Given the description of an element on the screen output the (x, y) to click on. 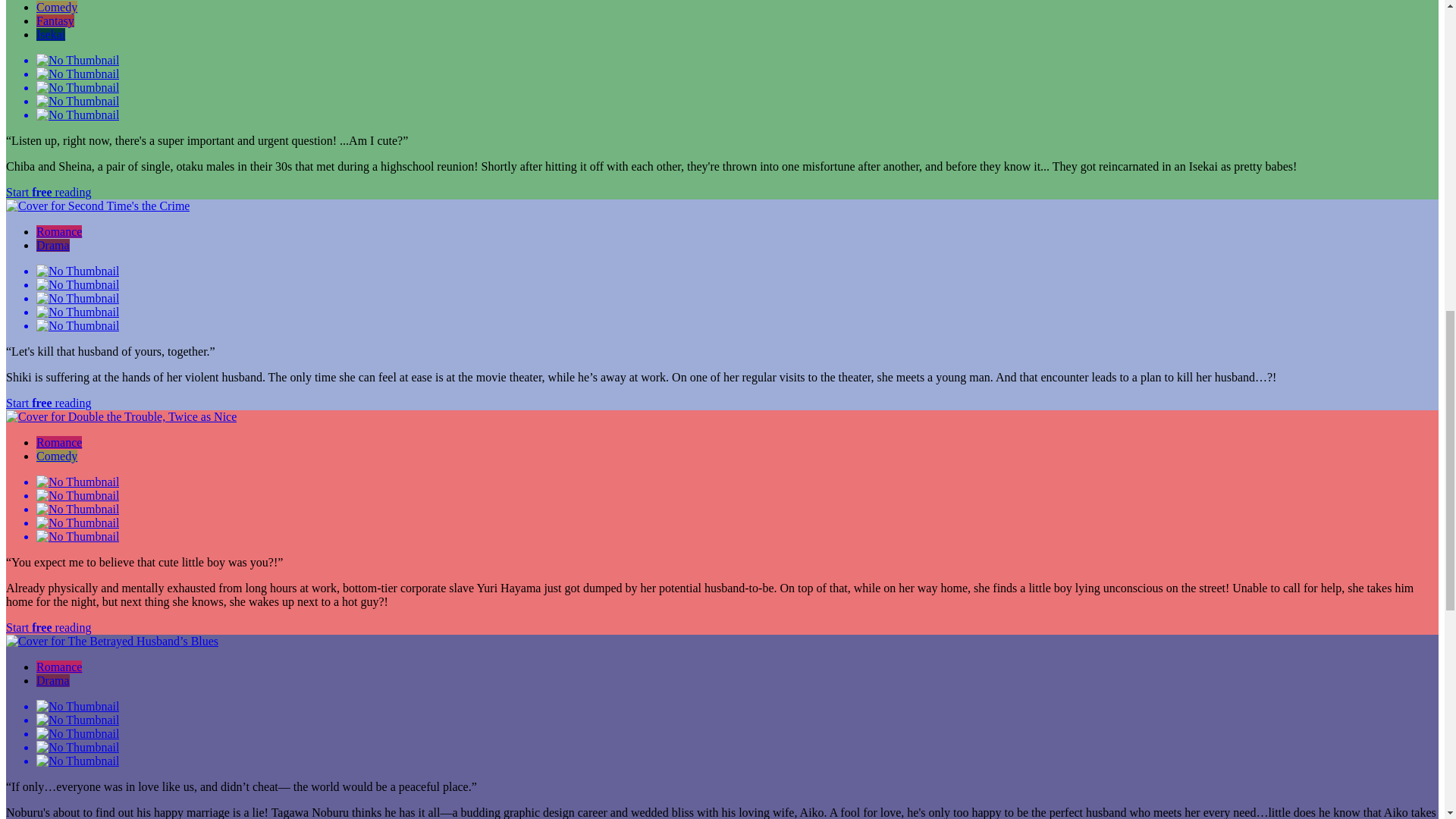
Isekai (50, 33)
Start free reading (48, 192)
Exploring new worlds (55, 20)
Drama (52, 245)
Romance (58, 441)
To laugh out loud! (56, 6)
Comedy (56, 6)
Romance (58, 231)
Fantasy (55, 20)
In Another World (50, 33)
